Given the description of an element on the screen output the (x, y) to click on. 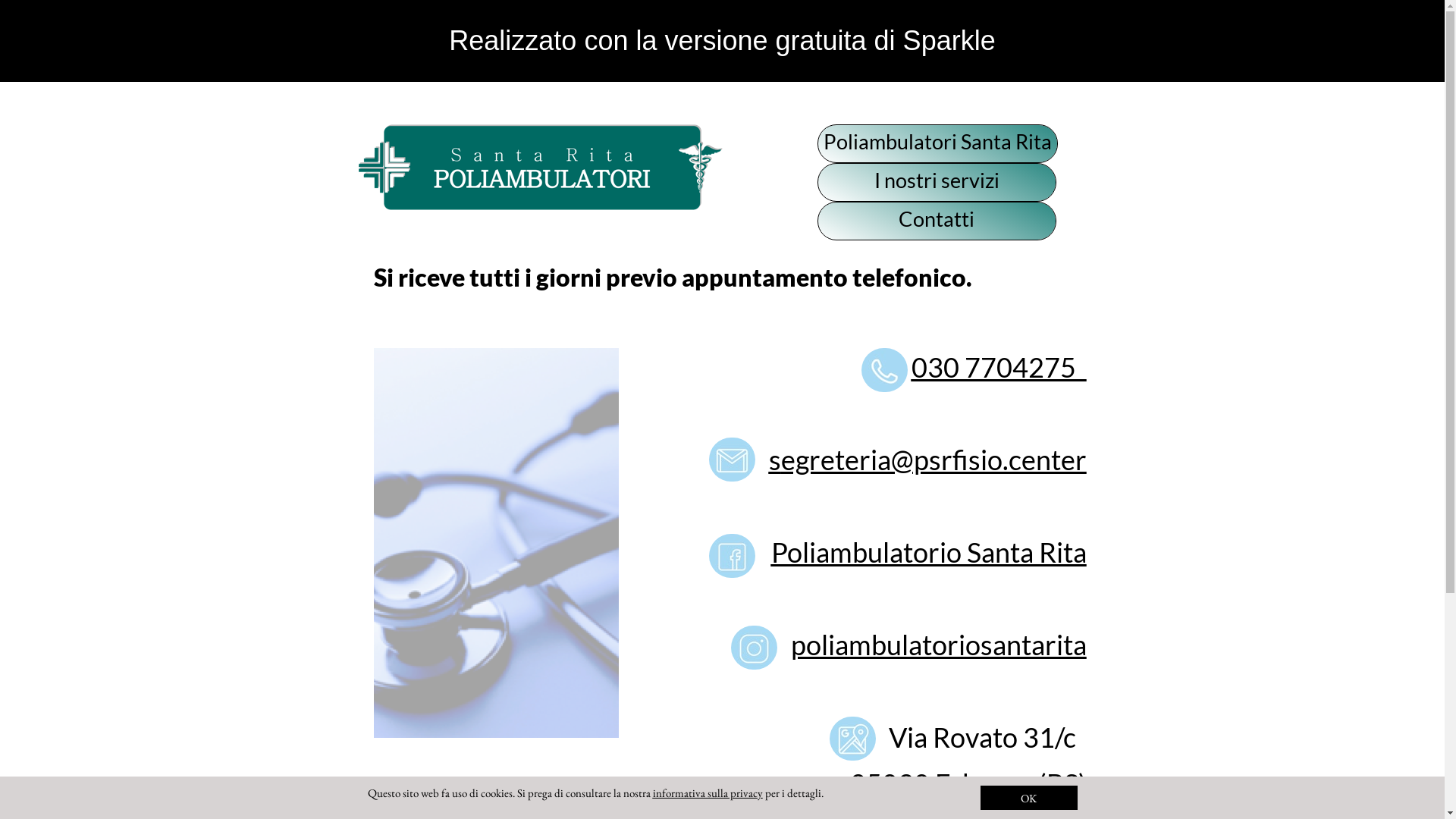
informativa sulla privacy Element type: text (707, 792)
OK Element type: text (1027, 797)
030 7704275   Element type: text (998, 366)
s Element type: text (774, 459)
Poliambulatorio Santa Rita Element type: text (927, 551)
egreteria@psrfisio.center Element type: text (933, 459)
) Element type: text (1082, 783)
poliambulatoriosantarita Element type: text (937, 644)
